Given the description of an element on the screen output the (x, y) to click on. 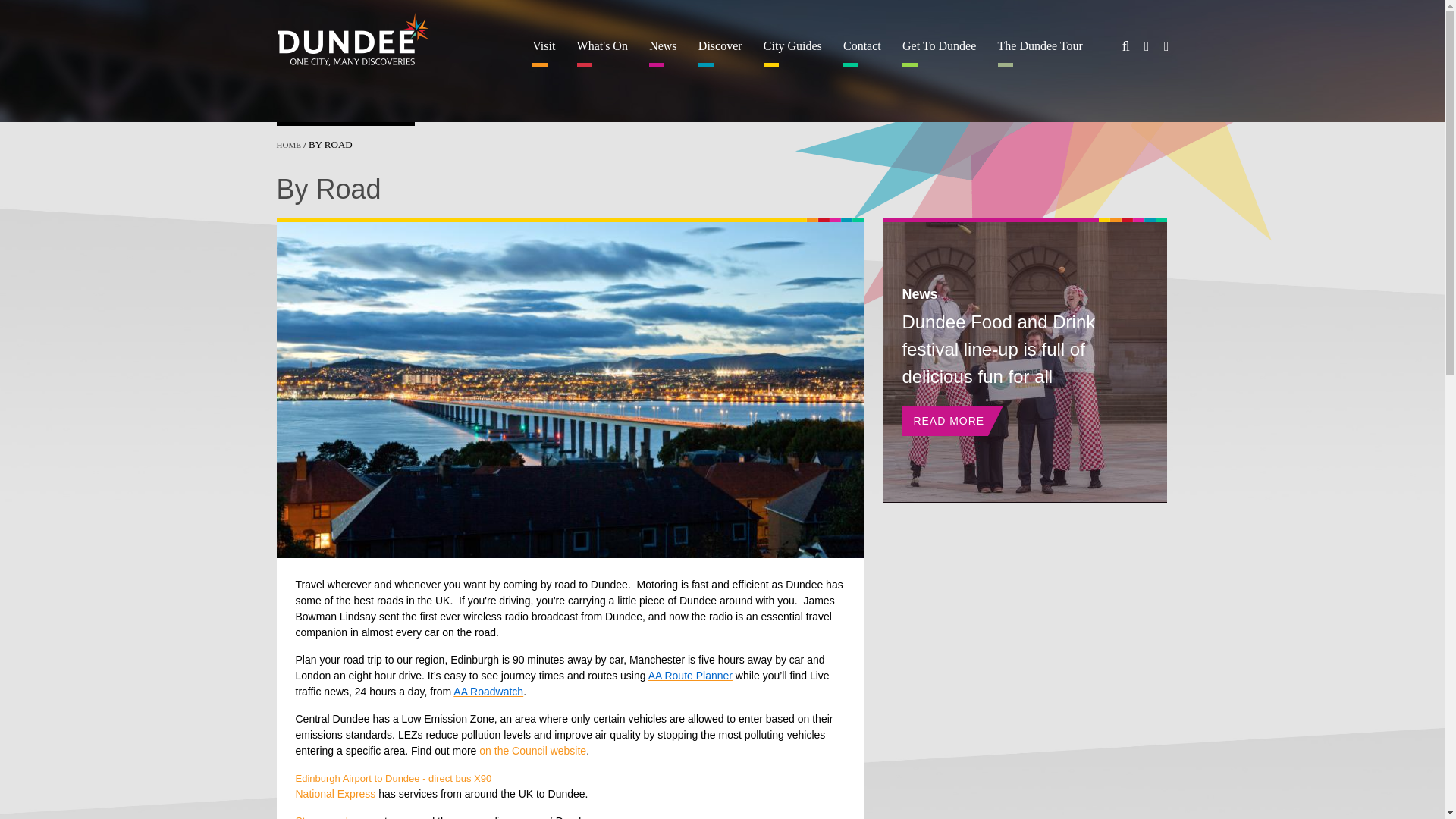
on the Council website (532, 750)
Contact (862, 53)
City Guides (792, 53)
AA Roadwatch (487, 691)
Get To Dundee (939, 53)
HOME (287, 144)
What's On (602, 53)
The Dundee Tour (1040, 53)
Discover (720, 53)
Dundee Food Festival (1024, 359)
AA Route Planner (689, 675)
News (662, 53)
